Given the description of an element on the screen output the (x, y) to click on. 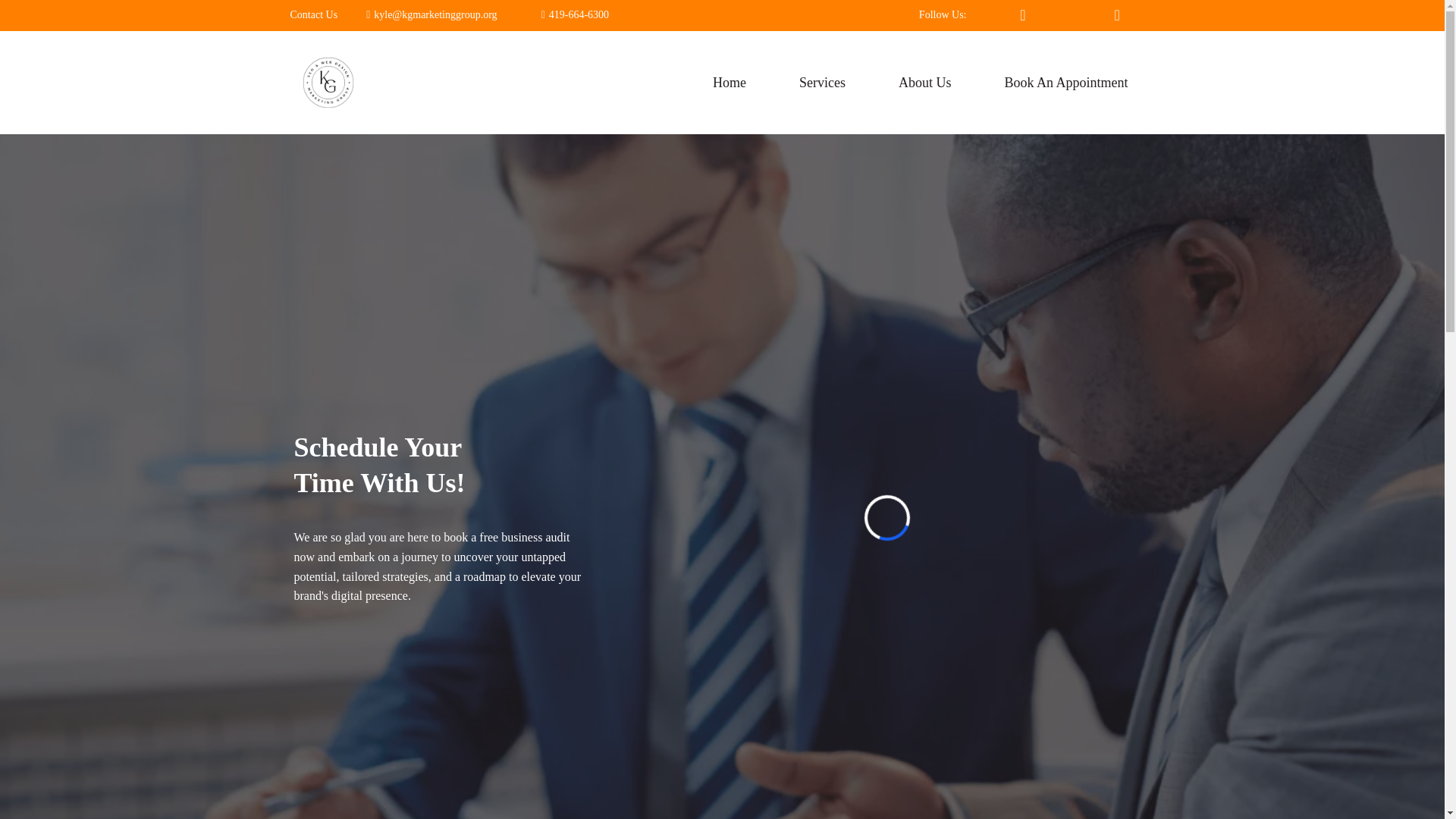
Home (729, 83)
About Us (925, 83)
Services (822, 83)
Book An Appointment (1065, 83)
